Given the description of an element on the screen output the (x, y) to click on. 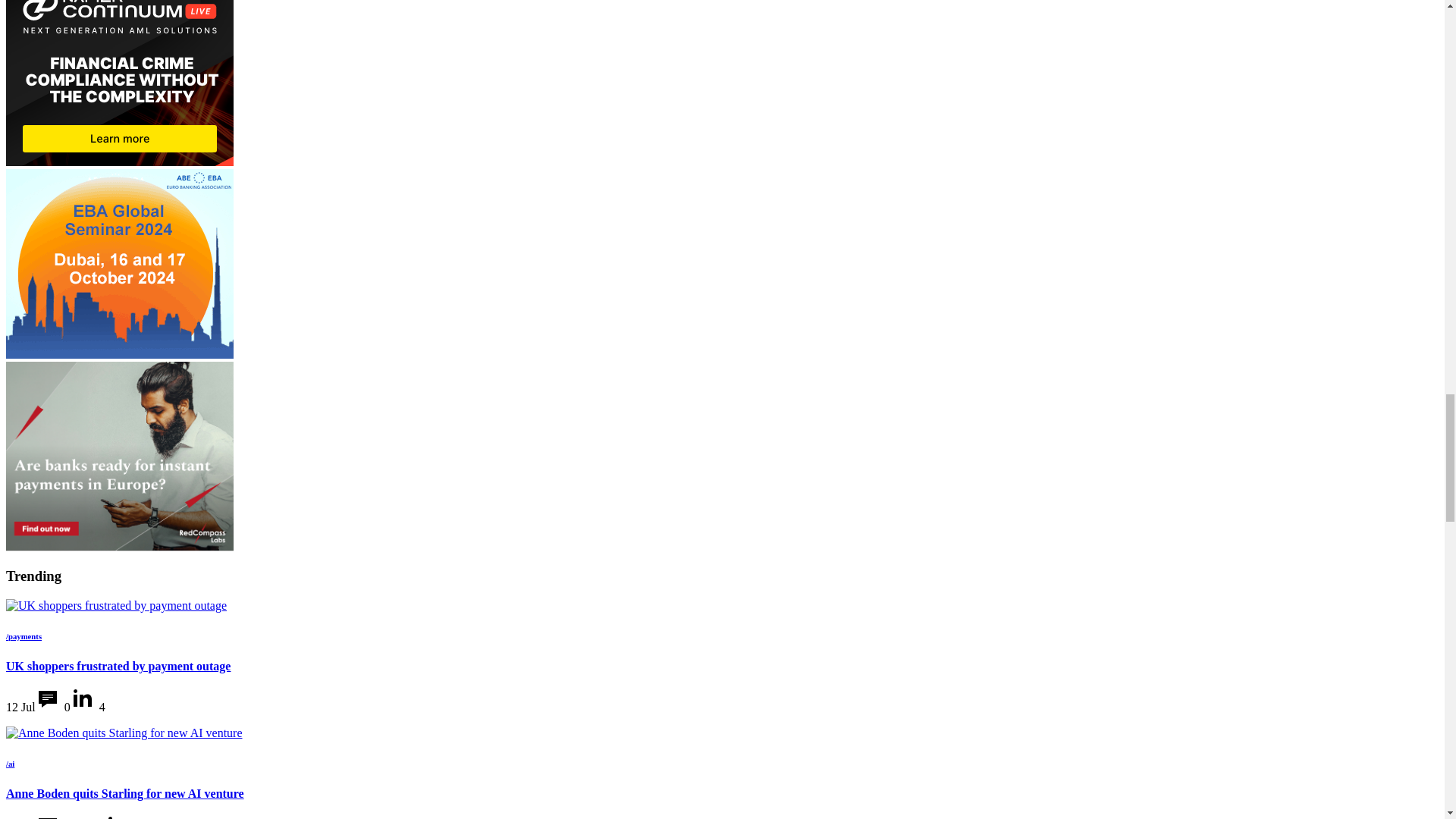
UK shoppers frustrated by payment outage (116, 605)
UK shoppers frustrated by payment outage (116, 604)
Anne Boden quits Starling for new AI venture (124, 733)
Anne Boden quits Starling for new AI venture (124, 732)
